Given the description of an element on the screen output the (x, y) to click on. 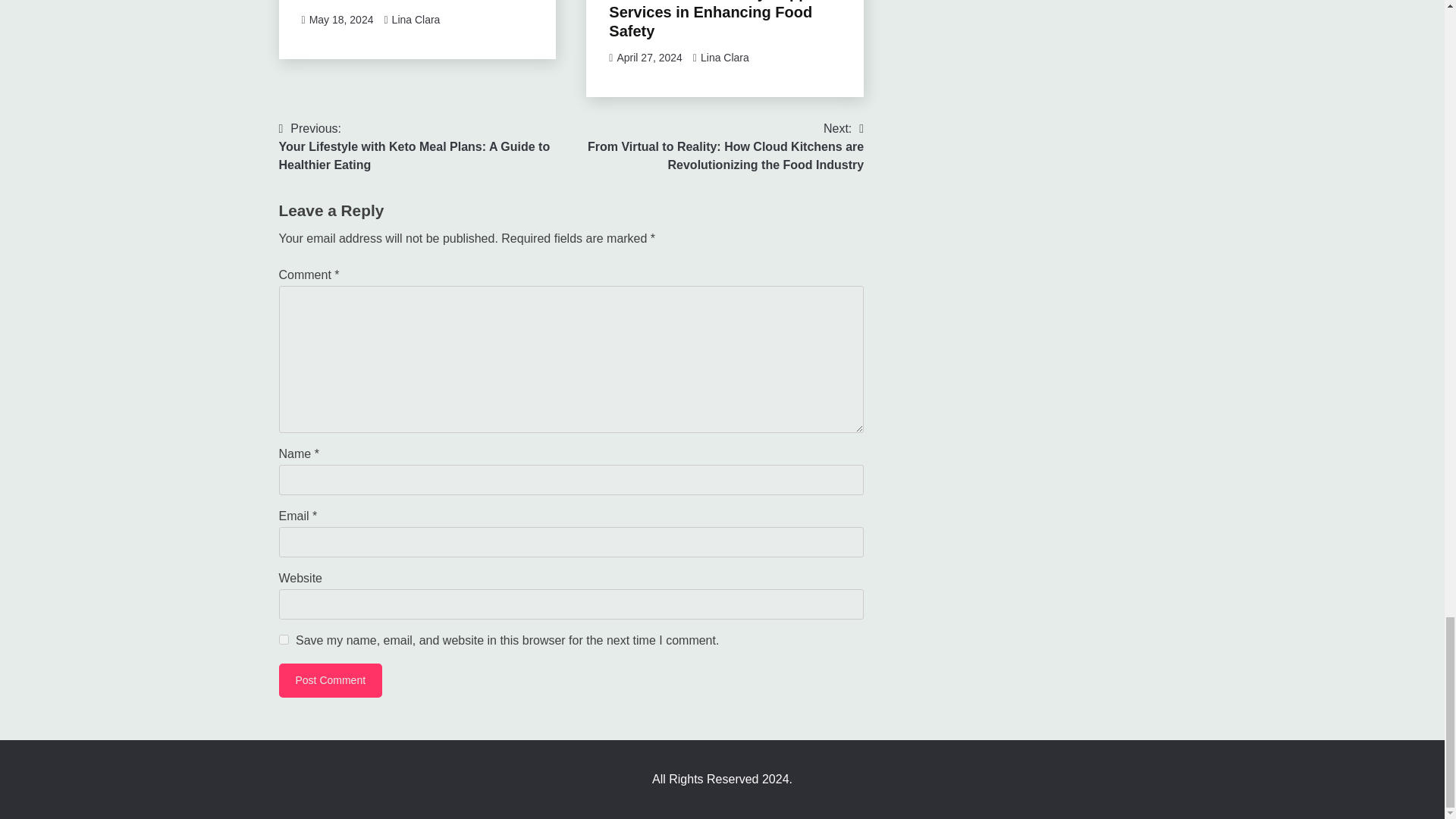
Post Comment (330, 680)
Lina Clara (724, 57)
May 18, 2024 (341, 19)
Post Comment (330, 680)
Lina Clara (416, 19)
yes (283, 639)
April 27, 2024 (648, 57)
